Given the description of an element on the screen output the (x, y) to click on. 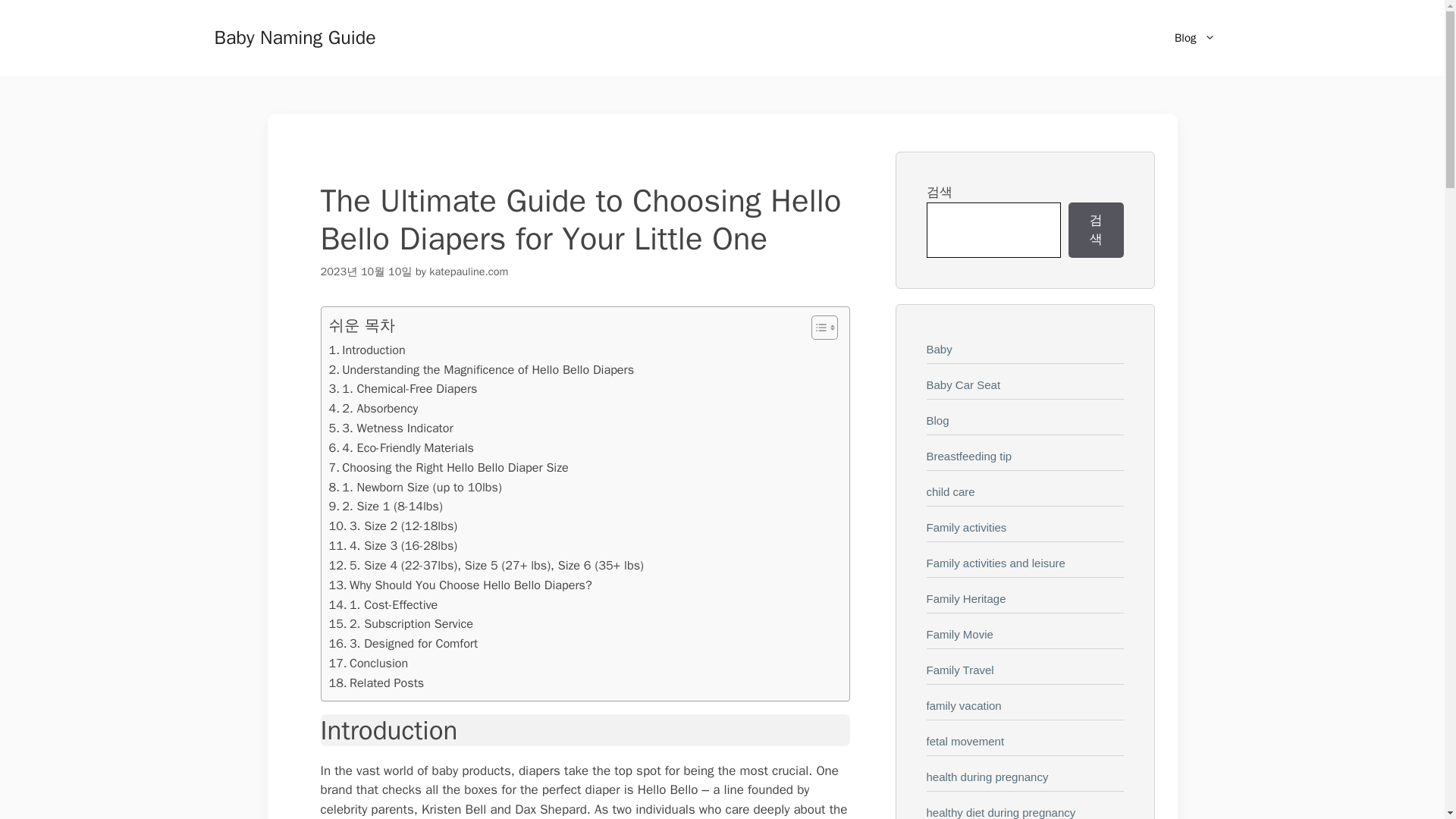
1. Cost-Effective (383, 605)
Understanding the Magnificence of Hello Bello Diapers (481, 370)
Baby Car Seat (963, 383)
View all posts by katepauline.com (468, 271)
1. Chemical-Free Diapers (403, 388)
4. Eco-Friendly Materials (401, 447)
Baby (939, 349)
katepauline.com (468, 271)
2. Absorbency (374, 408)
Choosing the Right Hello Bello Diaper Size (449, 467)
Choosing the Right Hello Bello Diaper Size (449, 467)
1. Cost-Effective (383, 605)
2. Absorbency (374, 408)
Introduction (367, 350)
2. Subscription Service (401, 623)
